Given the description of an element on the screen output the (x, y) to click on. 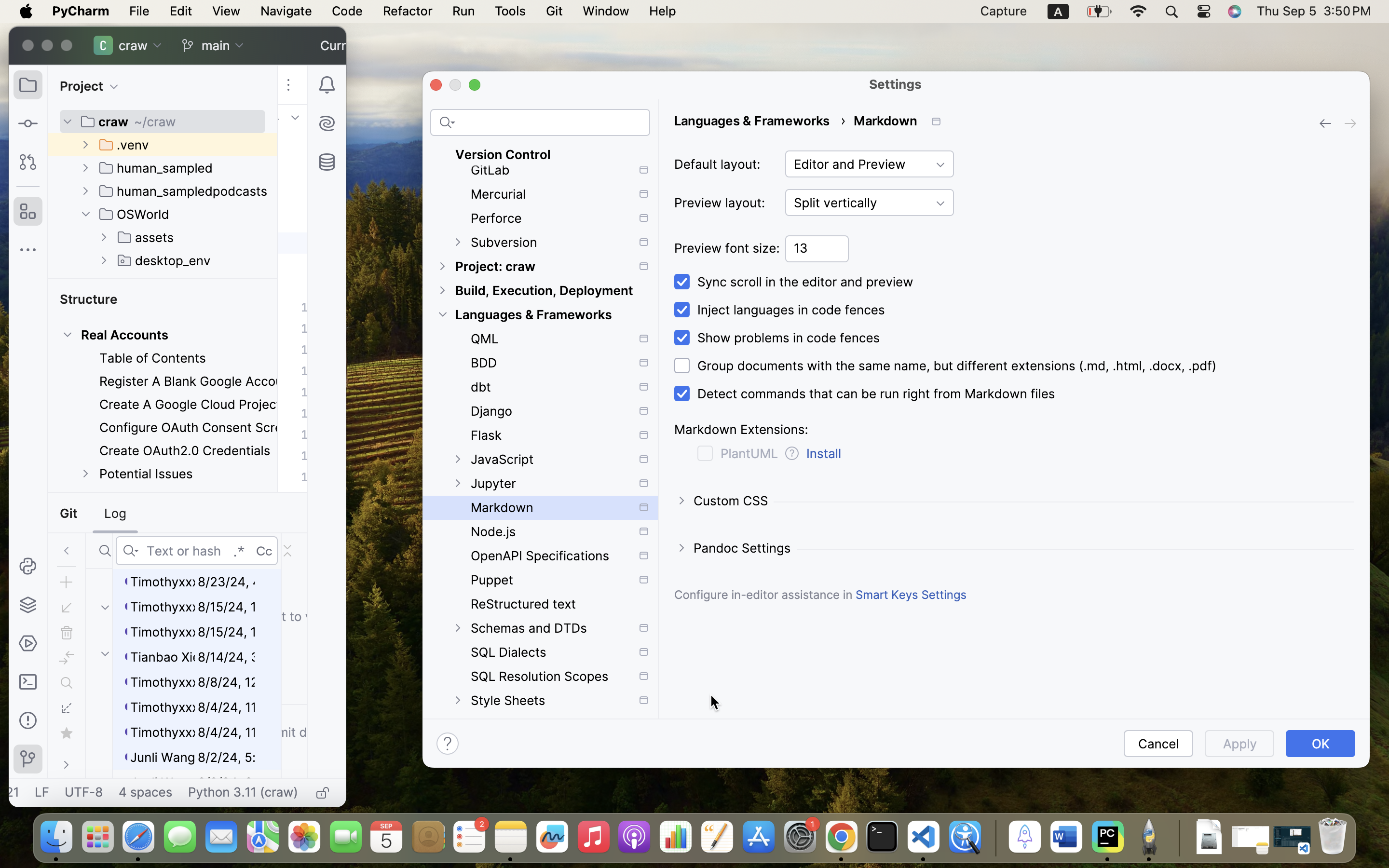
13 Element type: AXTextField (816, 248)
Markdown Extensions: Element type: AXStaticText (741, 429)
